Given the description of an element on the screen output the (x, y) to click on. 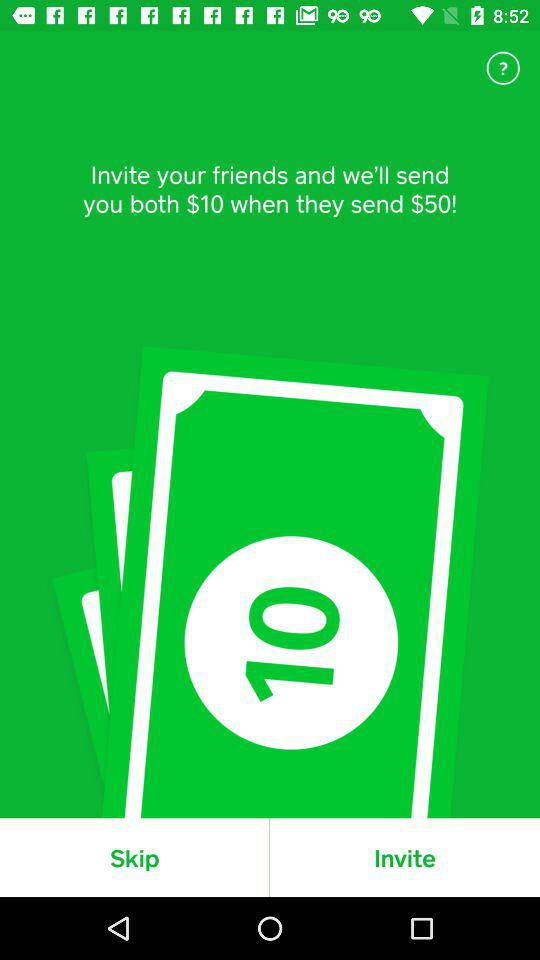
tap item at the bottom left corner (134, 857)
